Given the description of an element on the screen output the (x, y) to click on. 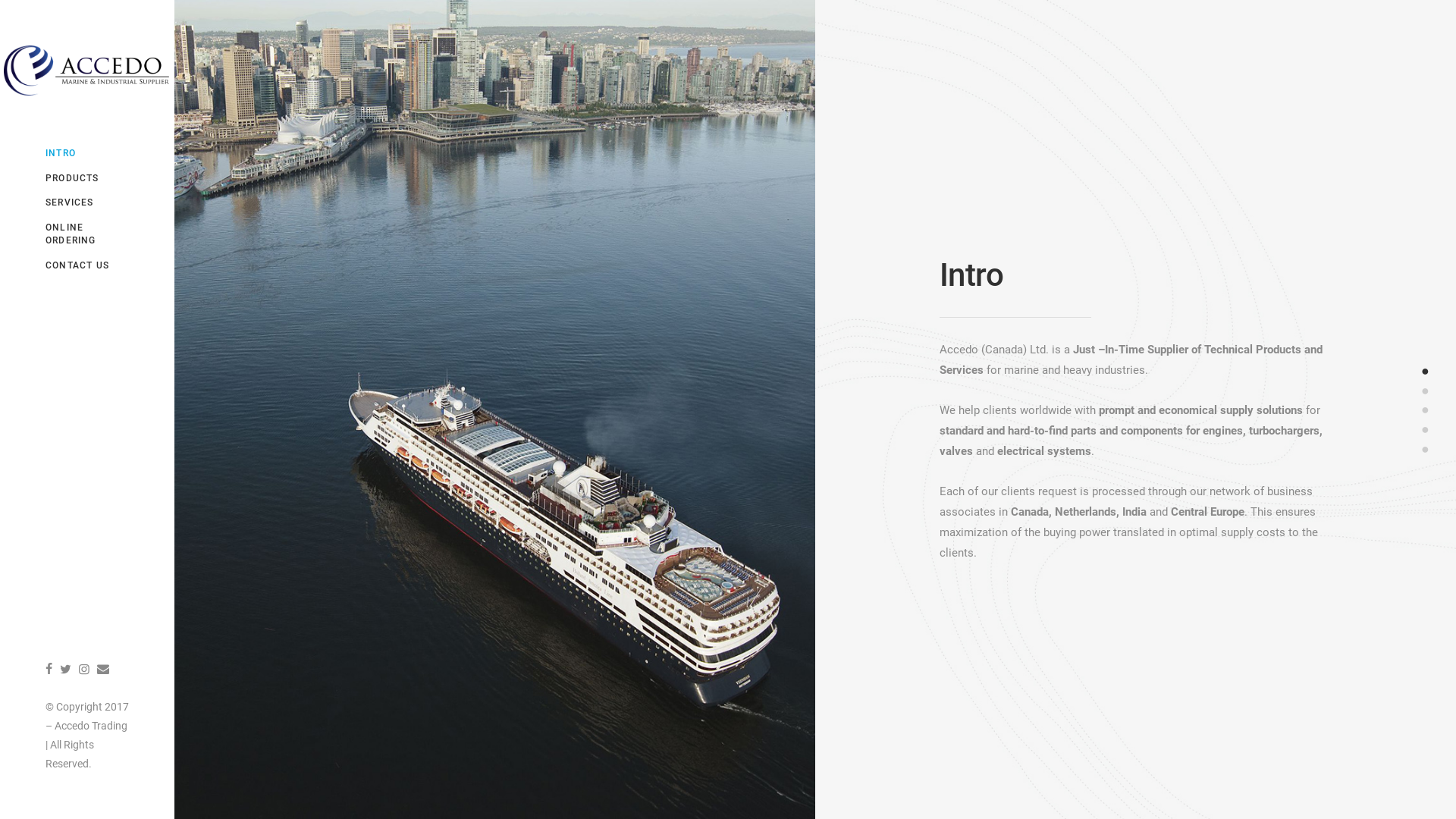
3 Element type: text (1425, 409)
5 Element type: text (1425, 448)
CONTACT US Element type: text (87, 265)
2 Element type: text (1425, 389)
4 Element type: text (1425, 429)
INTRO Element type: text (87, 153)
1 Element type: text (1425, 369)
SERVICES Element type: text (87, 202)
PRODUCTS Element type: text (87, 178)
ONLINE ORDERING Element type: text (87, 234)
